Given the description of an element on the screen output the (x, y) to click on. 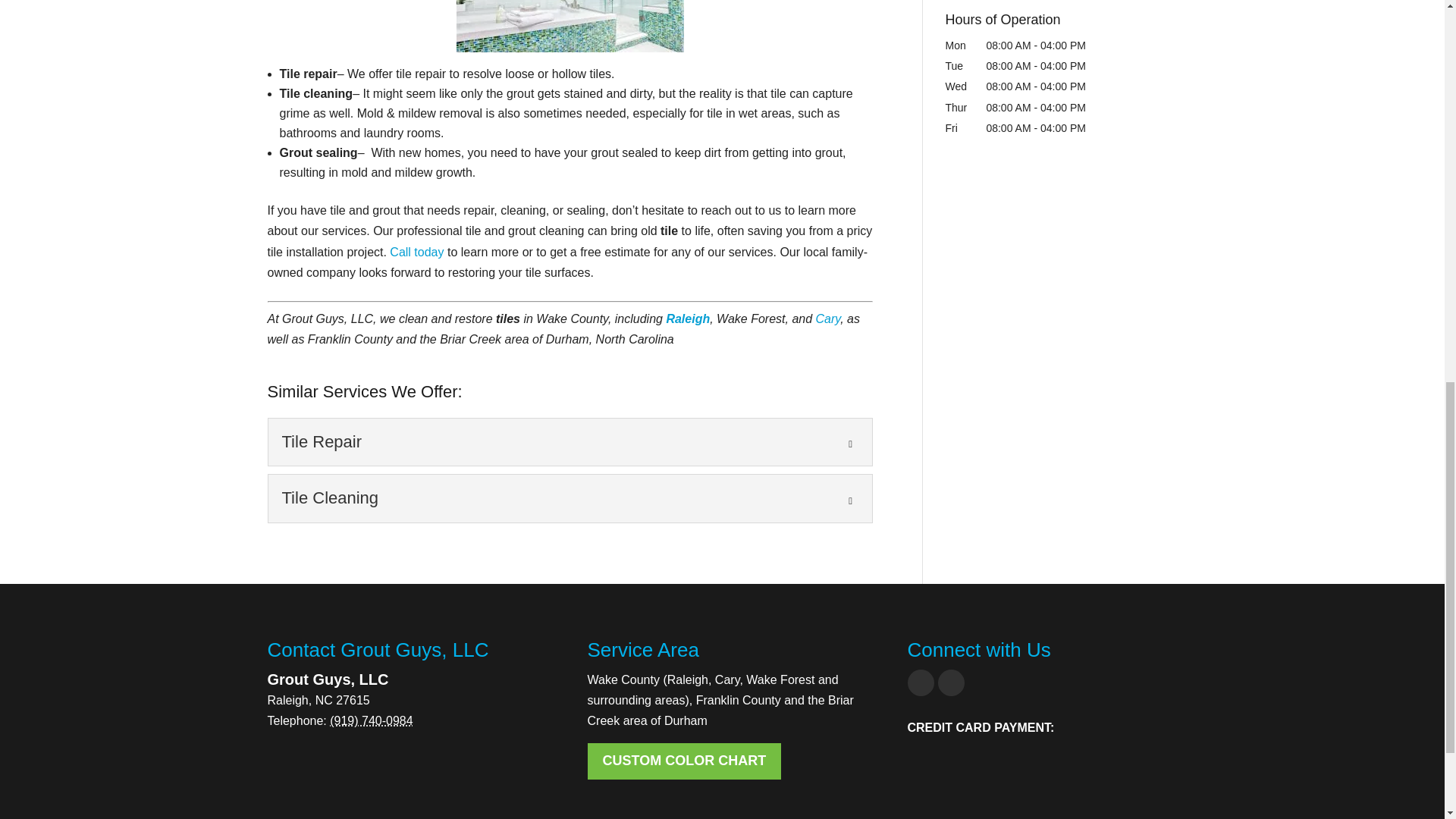
Tile Repair (569, 442)
Raleigh (687, 318)
Call today (417, 251)
Cary (828, 318)
